Given the description of an element on the screen output the (x, y) to click on. 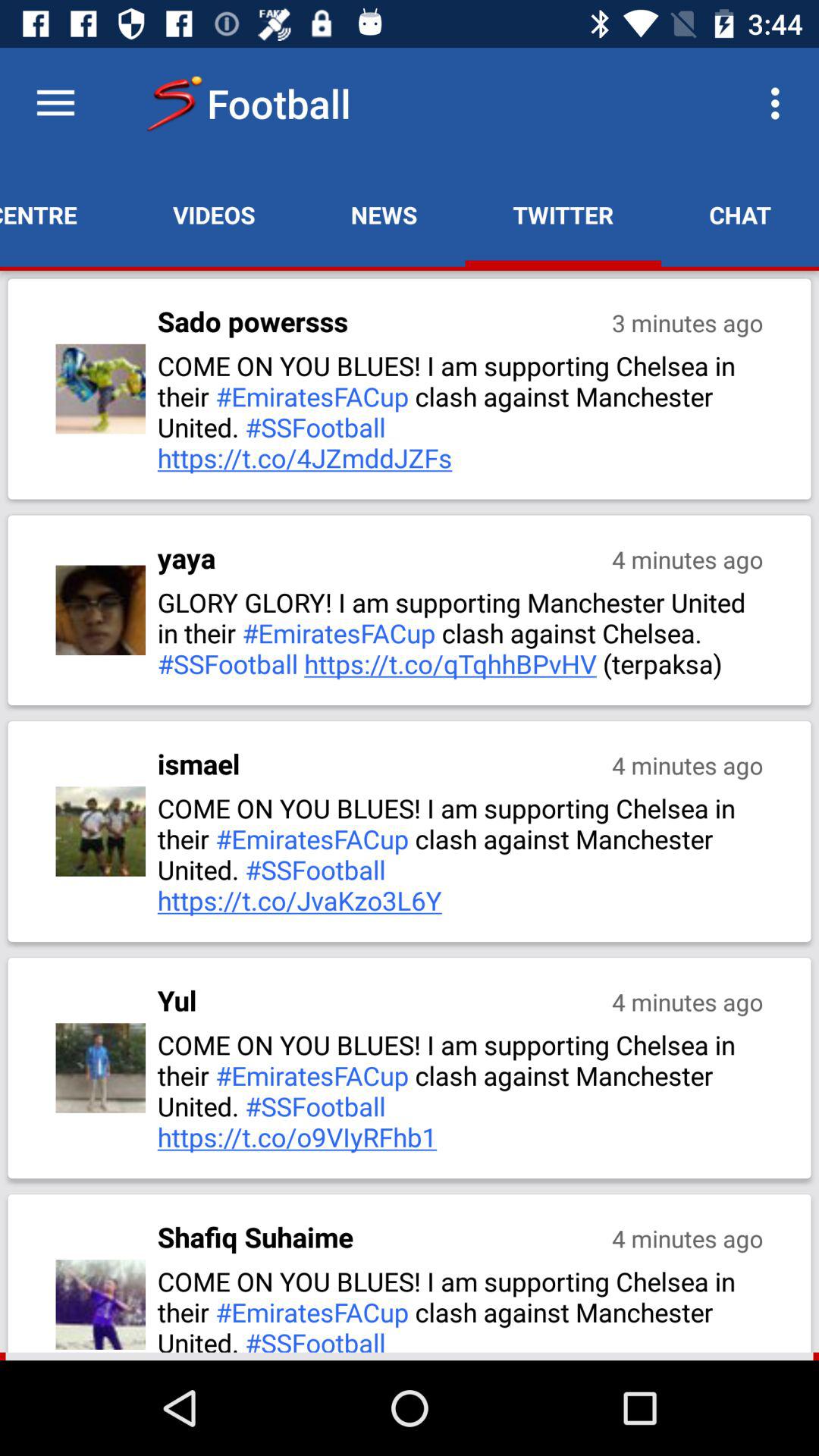
scroll until videos app (214, 214)
